Given the description of an element on the screen output the (x, y) to click on. 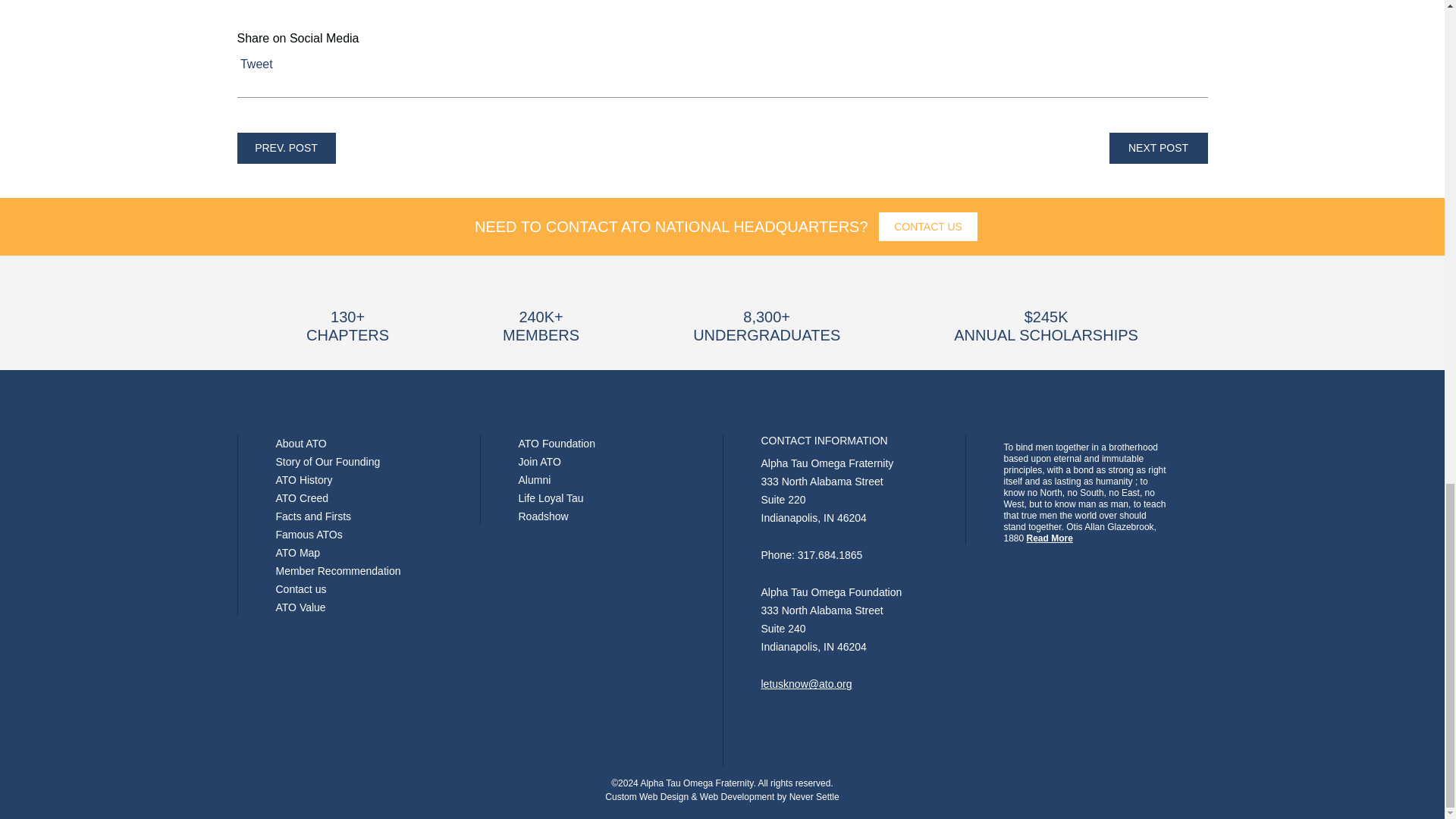
Story of Our Founding (328, 461)
Contact us (301, 589)
Member Recommendation (338, 571)
Facts and Firsts (314, 516)
ATO History (304, 480)
Join ATO (539, 461)
Famous ATOs (309, 534)
ATO Map (298, 552)
ATO Value (301, 607)
Tweet (256, 63)
